Given the description of an element on the screen output the (x, y) to click on. 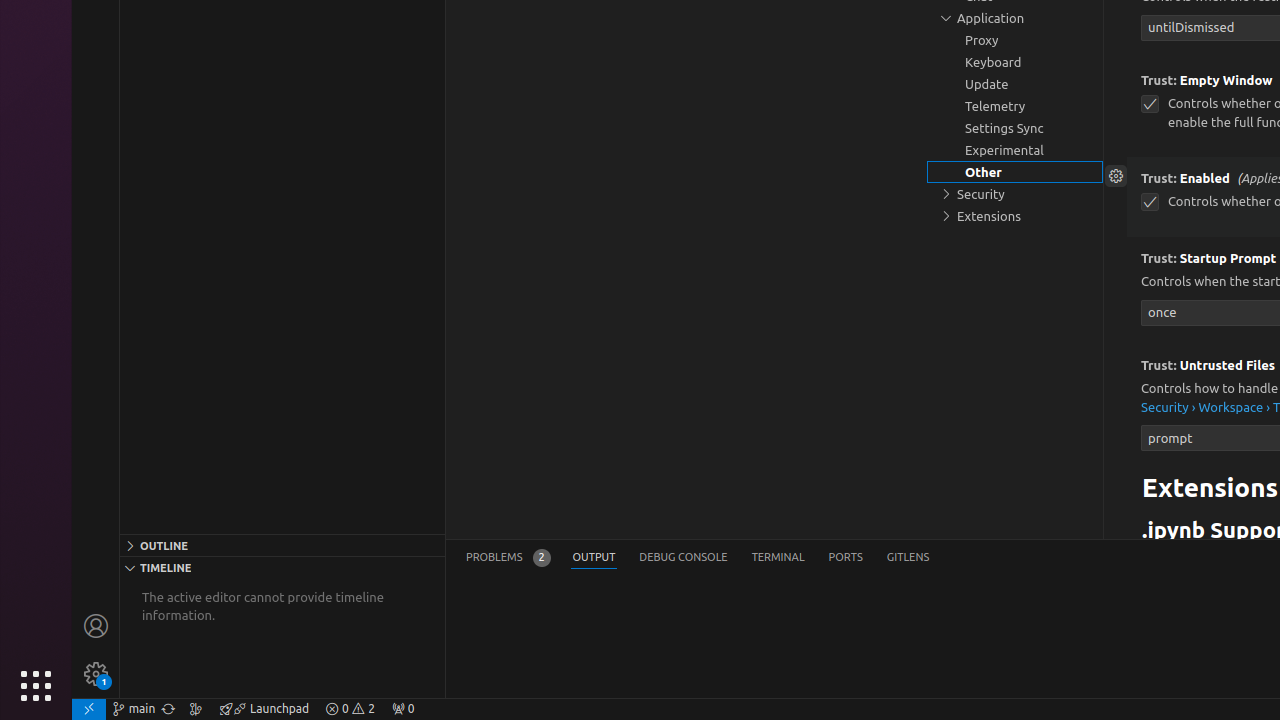
Proxy, group Element type: tree-item (1015, 40)
GitLens Element type: page-tab (908, 557)
Timeline Section Element type: push-button (282, 567)
Manage - New Code update available. Element type: push-button (96, 674)
